Given the description of an element on the screen output the (x, y) to click on. 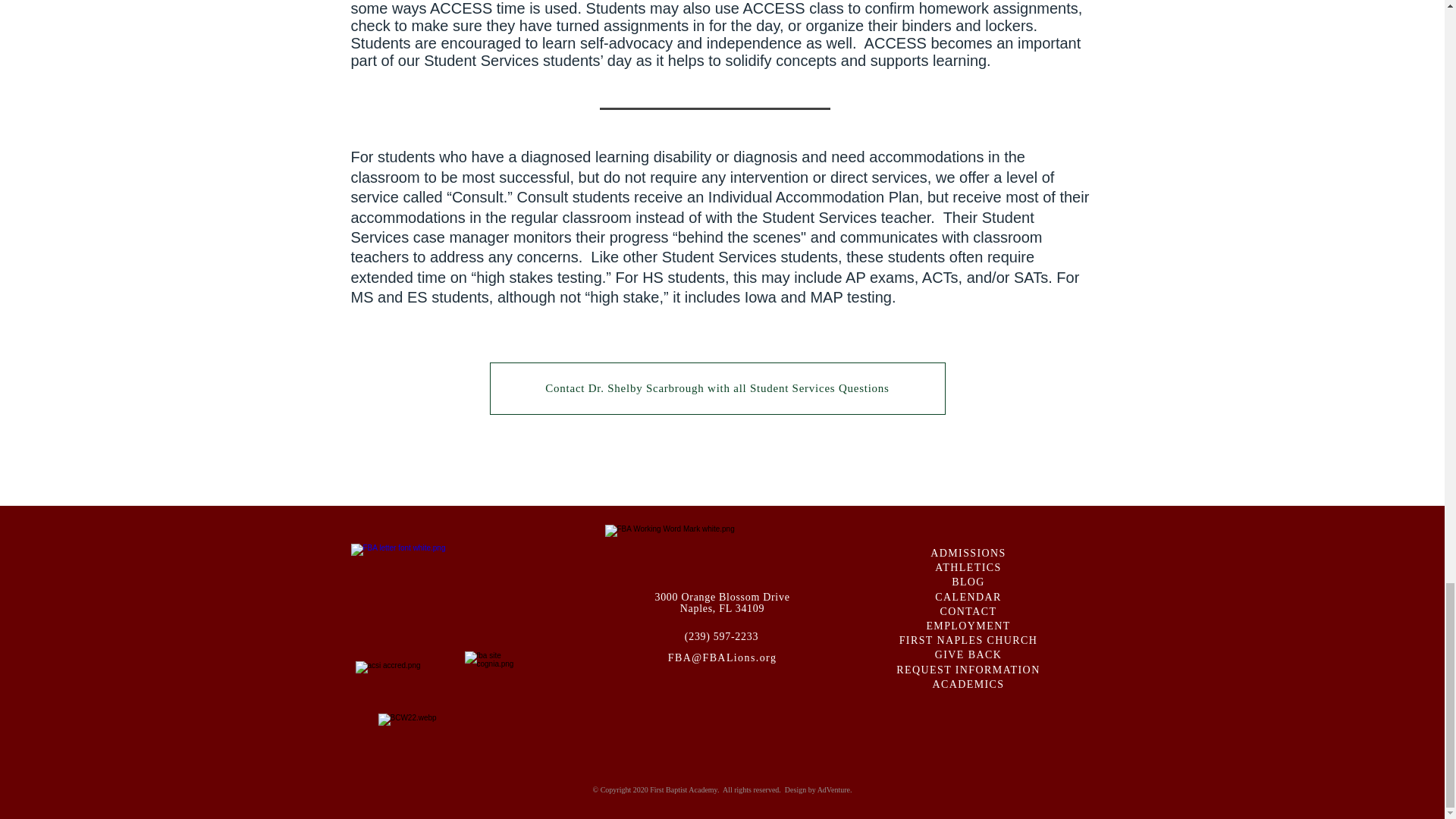
2021-bcw-certified-logo.png (430, 759)
